Given the description of an element on the screen output the (x, y) to click on. 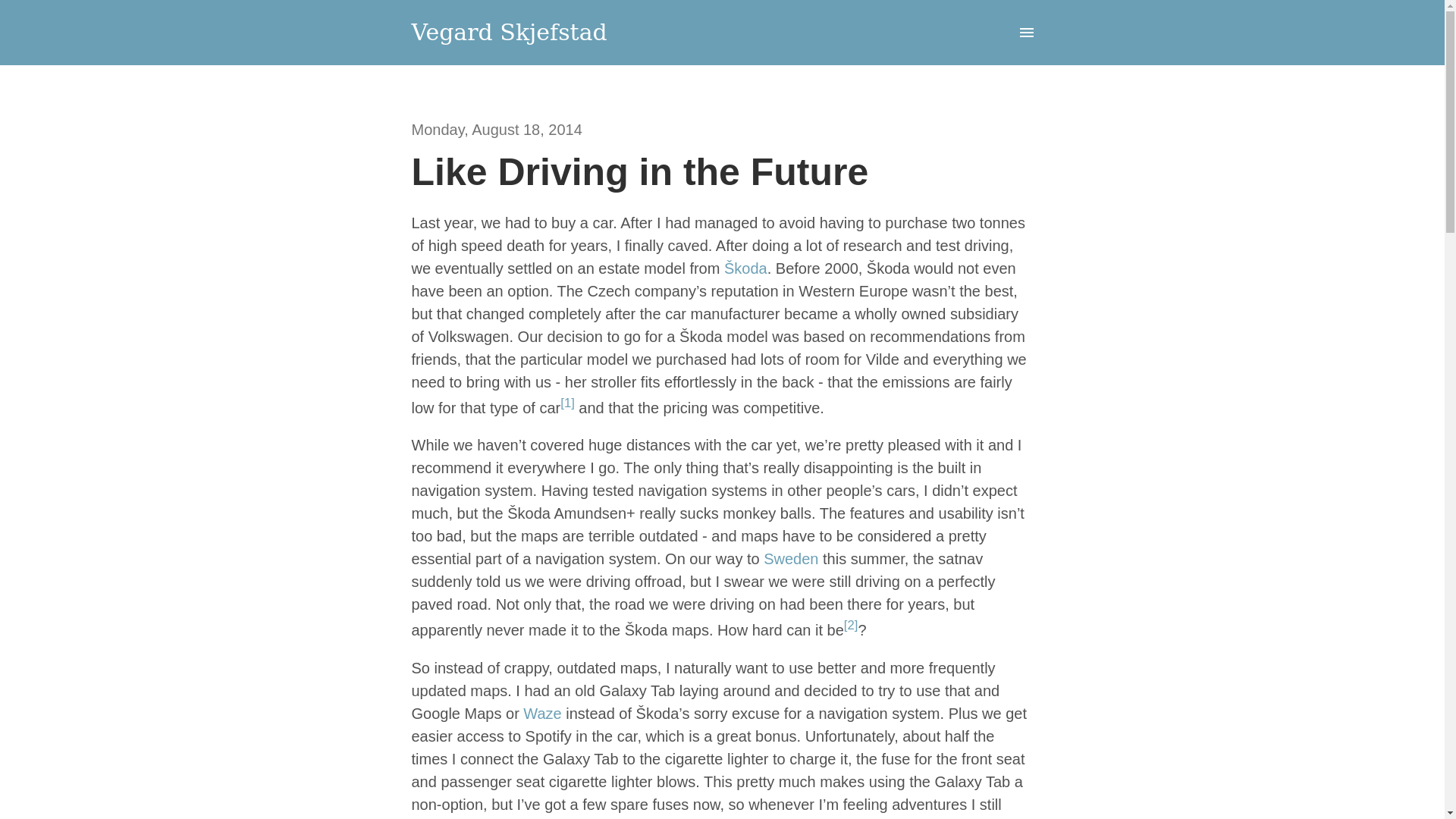
1 (567, 402)
Waze (541, 713)
Vegard Skjefstad (508, 32)
2 (851, 625)
Sweden (790, 558)
Three Nights at Tanum Strand. (790, 558)
